Given the description of an element on the screen output the (x, y) to click on. 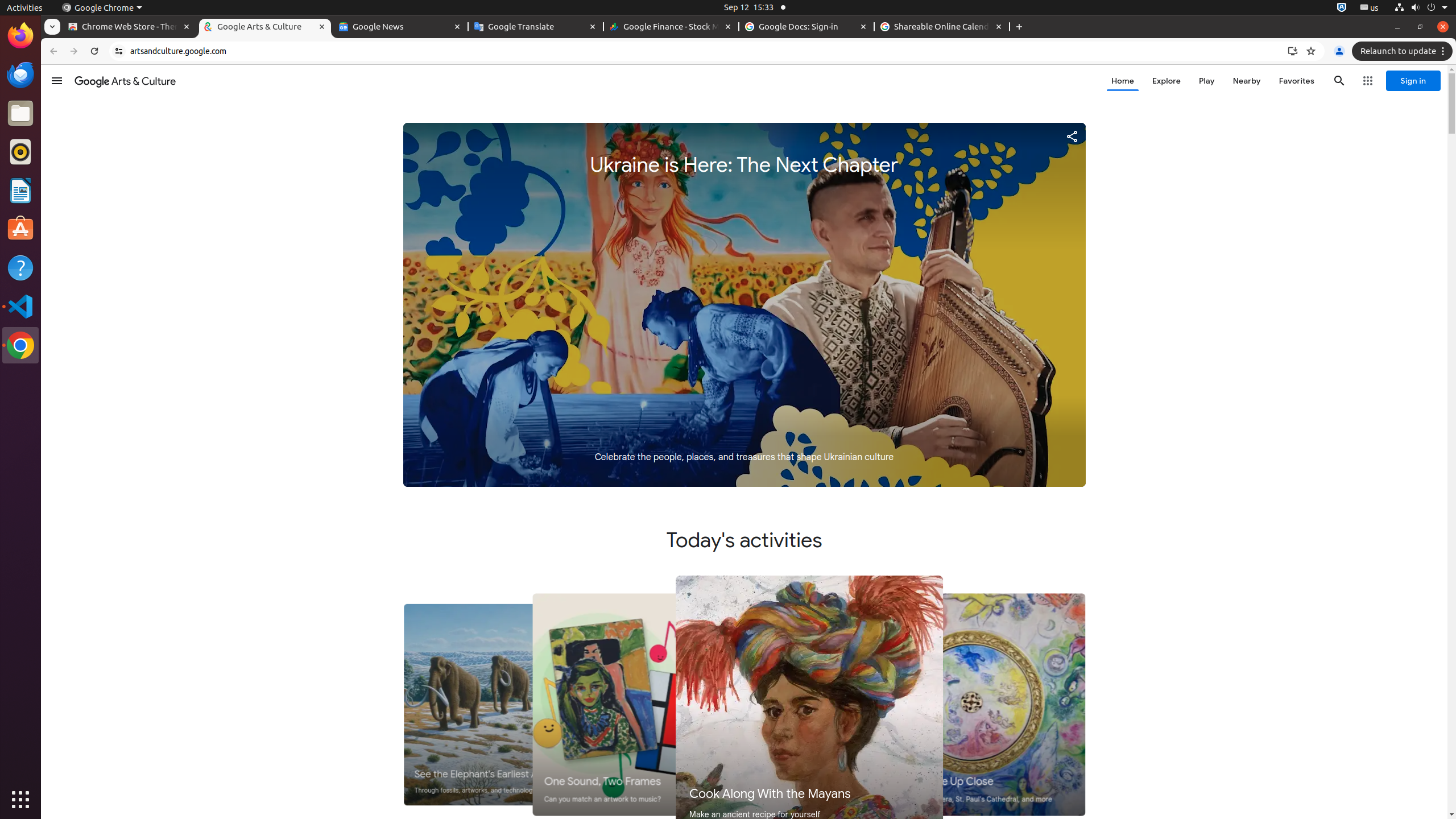
Rhythmbox Element type: push-button (20, 151)
Bookmark this tab Element type: push-button (1310, 51)
Back Element type: push-button (51, 50)
Ukraine is Here: The Next Chapter Celebrate the people, places, and treasures that shape Ukrainian culture Element type: link (743, 304)
Google Chrome Element type: menu (101, 7)
